Given the description of an element on the screen output the (x, y) to click on. 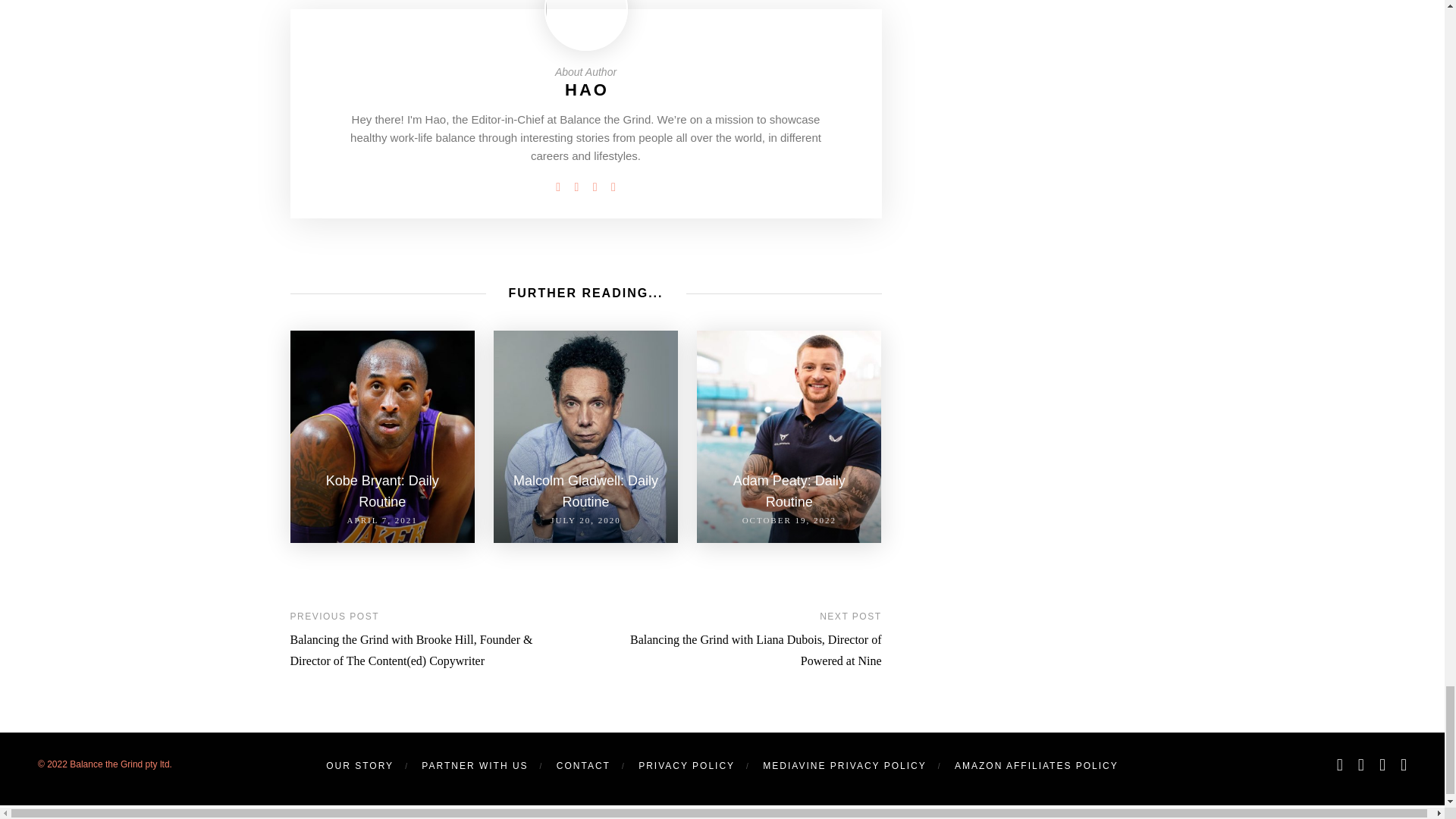
Posts by hao (586, 89)
